Given the description of an element on the screen output the (x, y) to click on. 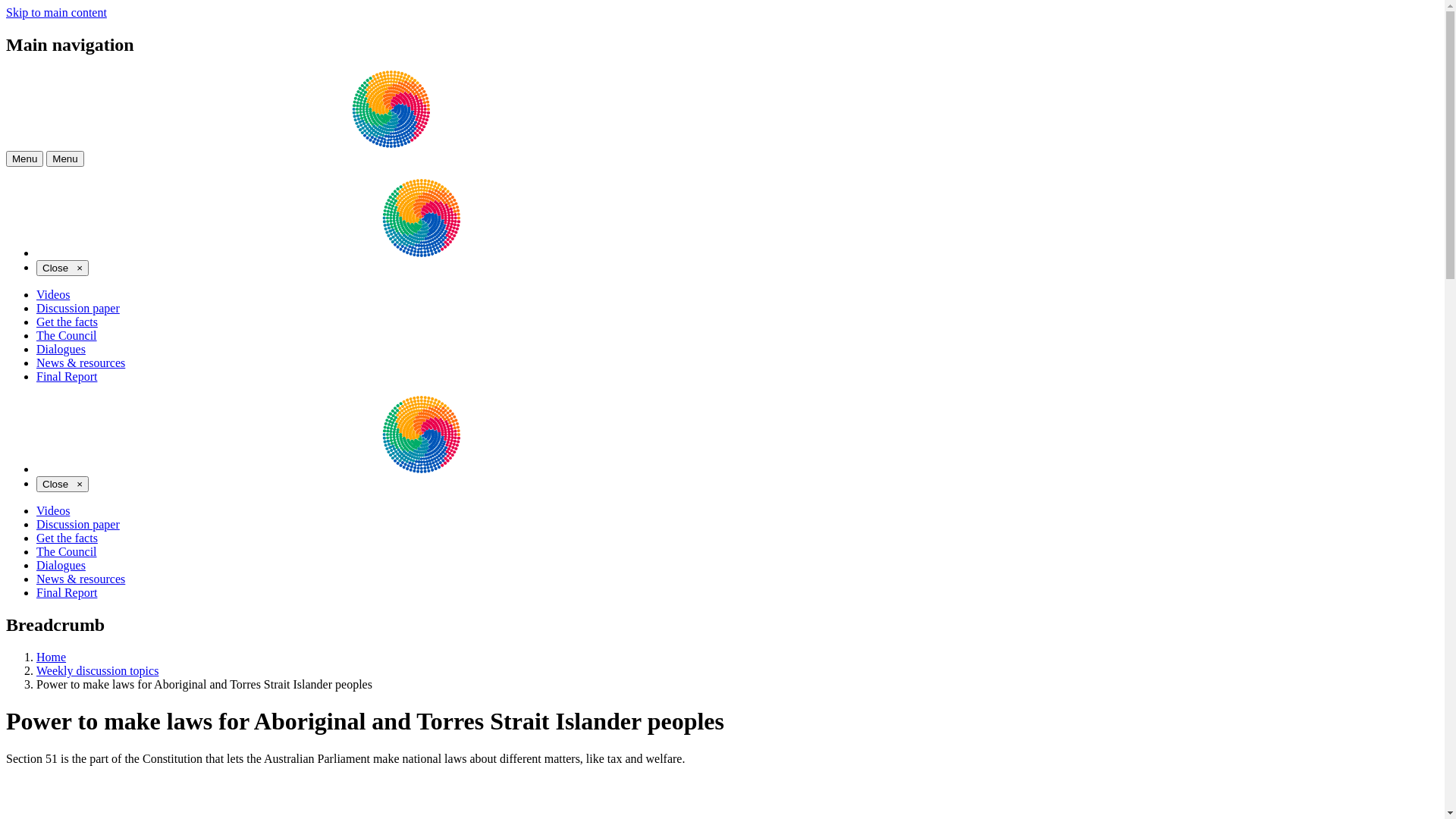
Home Element type: text (50, 656)
Get the facts Element type: text (66, 321)
The Council Element type: text (66, 335)
Discussion paper Element type: text (77, 307)
News & resources Element type: text (80, 362)
Menu Element type: text (64, 158)
Get the facts Element type: text (66, 537)
Discussion paper Element type: text (77, 523)
Final Report Element type: text (66, 376)
News & resources Element type: text (80, 578)
The Council Element type: text (66, 551)
Weekly discussion topics Element type: text (97, 670)
Videos Element type: text (52, 510)
Menu Element type: text (24, 158)
Skip to main content Element type: text (56, 12)
Videos Element type: text (52, 294)
Final Report Element type: text (66, 592)
Dialogues Element type: text (60, 348)
Dialogues Element type: text (60, 564)
